Given the description of an element on the screen output the (x, y) to click on. 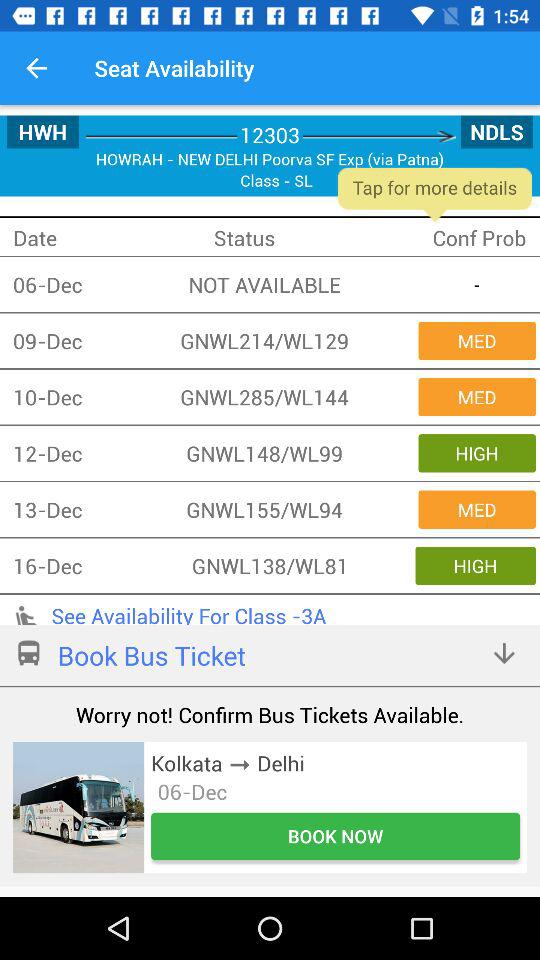
press book now item (335, 836)
